Given the description of an element on the screen output the (x, y) to click on. 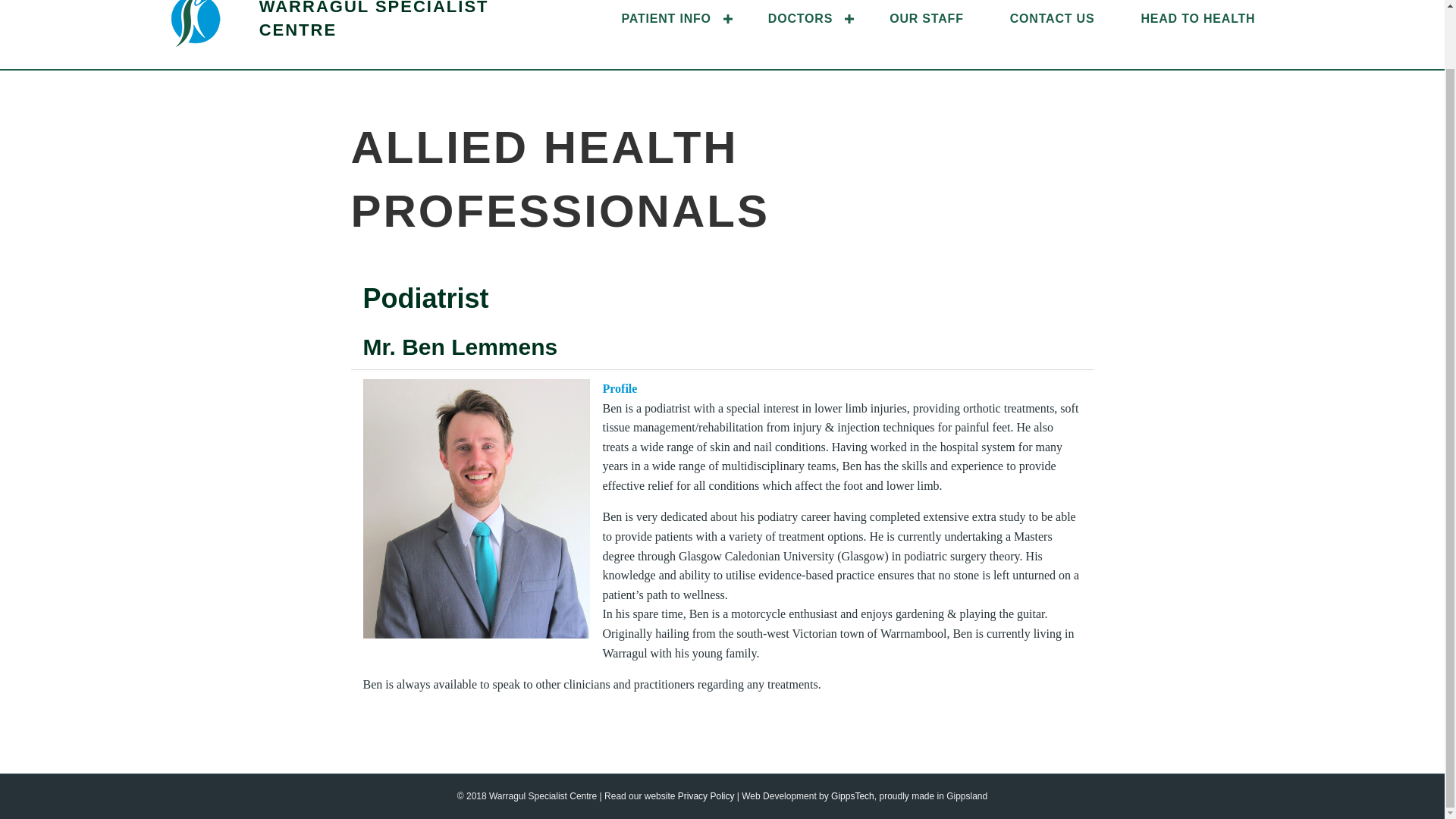
DOCTORS (805, 18)
HEAD TO HEALTH (1198, 18)
warragul-specialist-centre-logo-header (195, 23)
WARRAGUL SPECIALIST CENTRE (374, 19)
PATIENT INFO (671, 18)
GippsTech (853, 796)
Warragul Specialist Centre (374, 19)
CONTACT US (1052, 18)
OUR STAFF (926, 18)
Privacy Policy (706, 796)
